Given the description of an element on the screen output the (x, y) to click on. 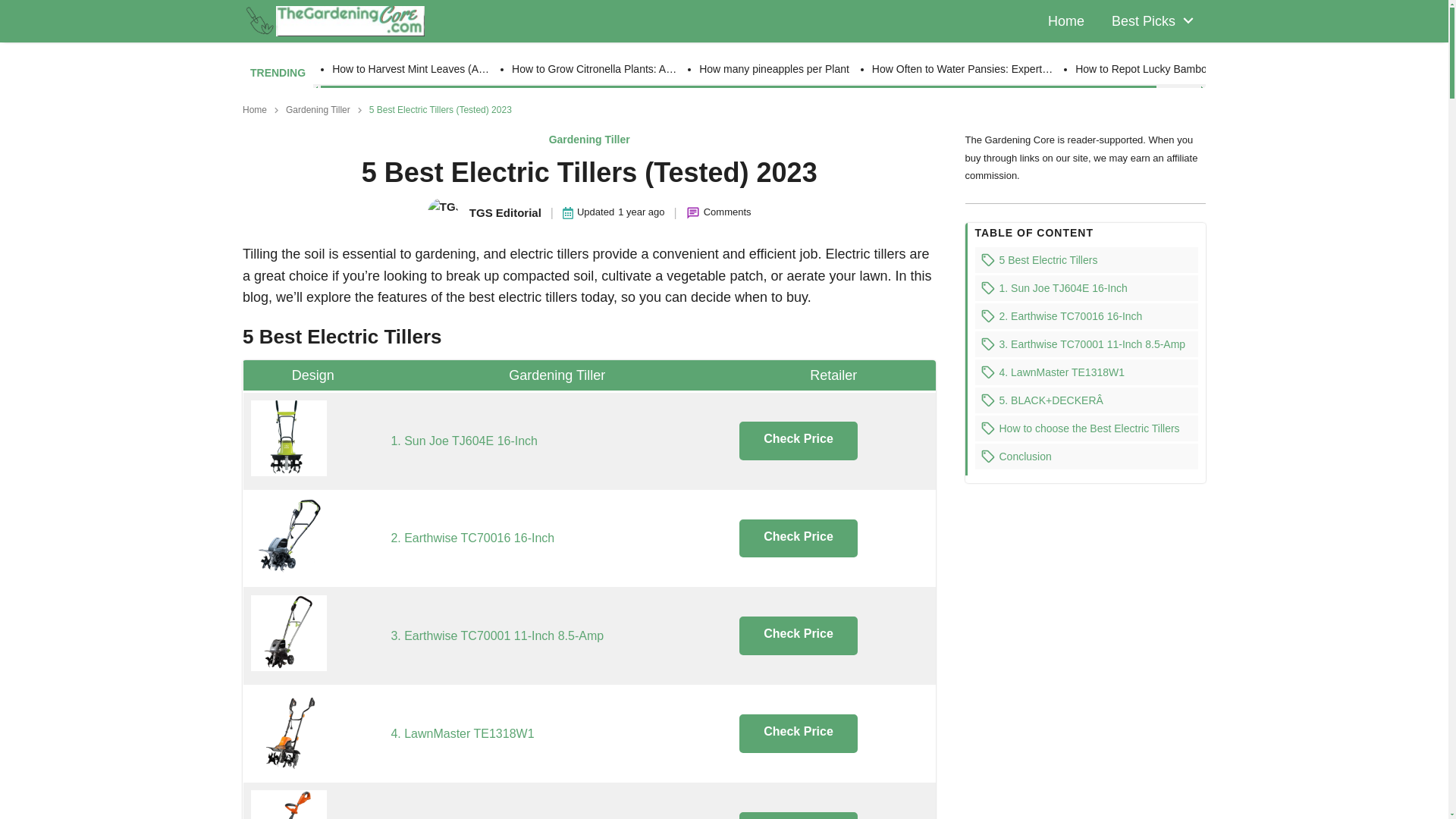
Home (1066, 21)
